Given the description of an element on the screen output the (x, y) to click on. 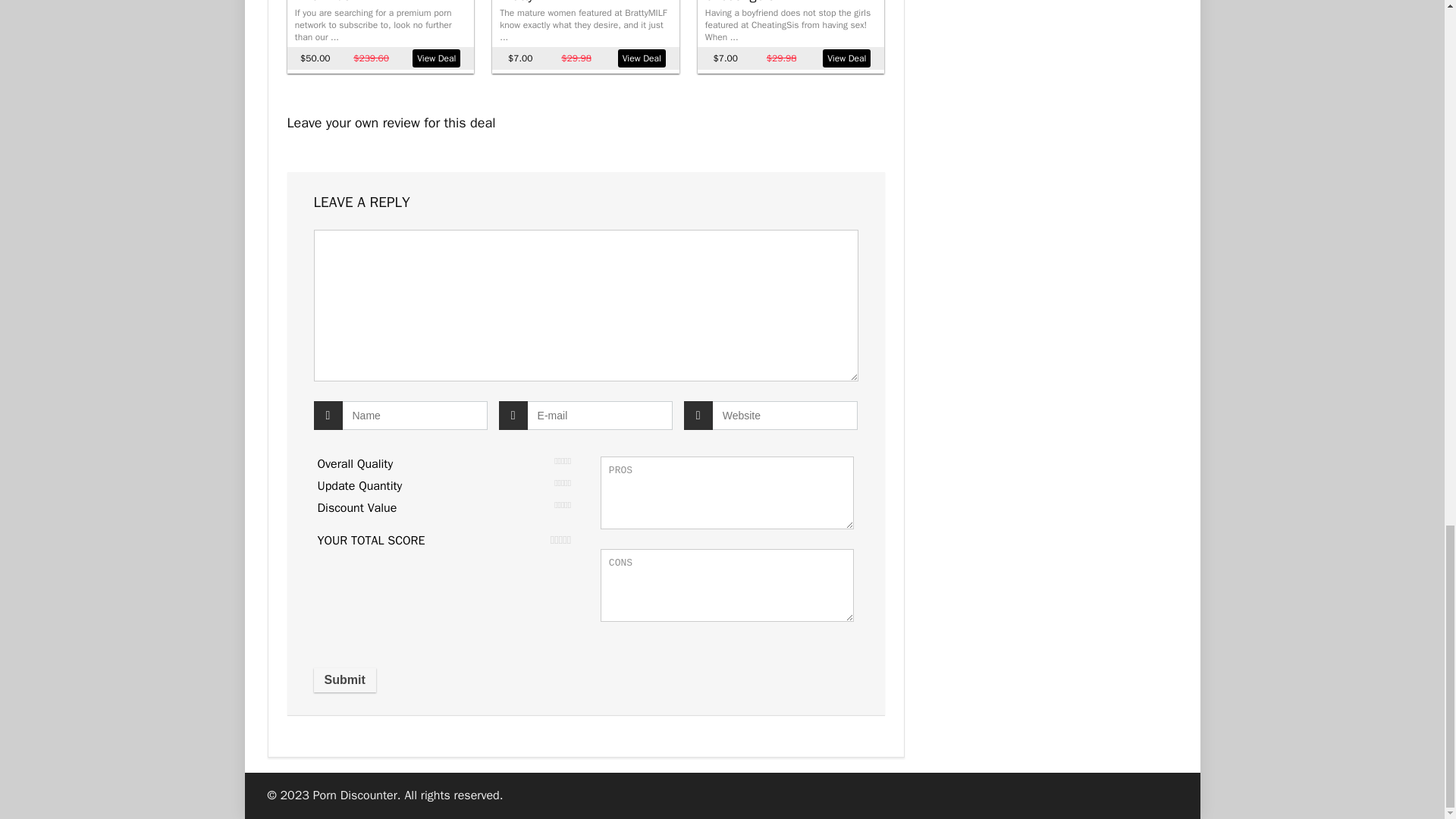
BrattyMILF (529, 2)
View Deal (436, 58)
VixenPlus (322, 2)
Submit (344, 680)
CheatingSis (739, 2)
View Deal (846, 58)
Submit (344, 680)
View Deal (641, 58)
